Given the description of an element on the screen output the (x, y) to click on. 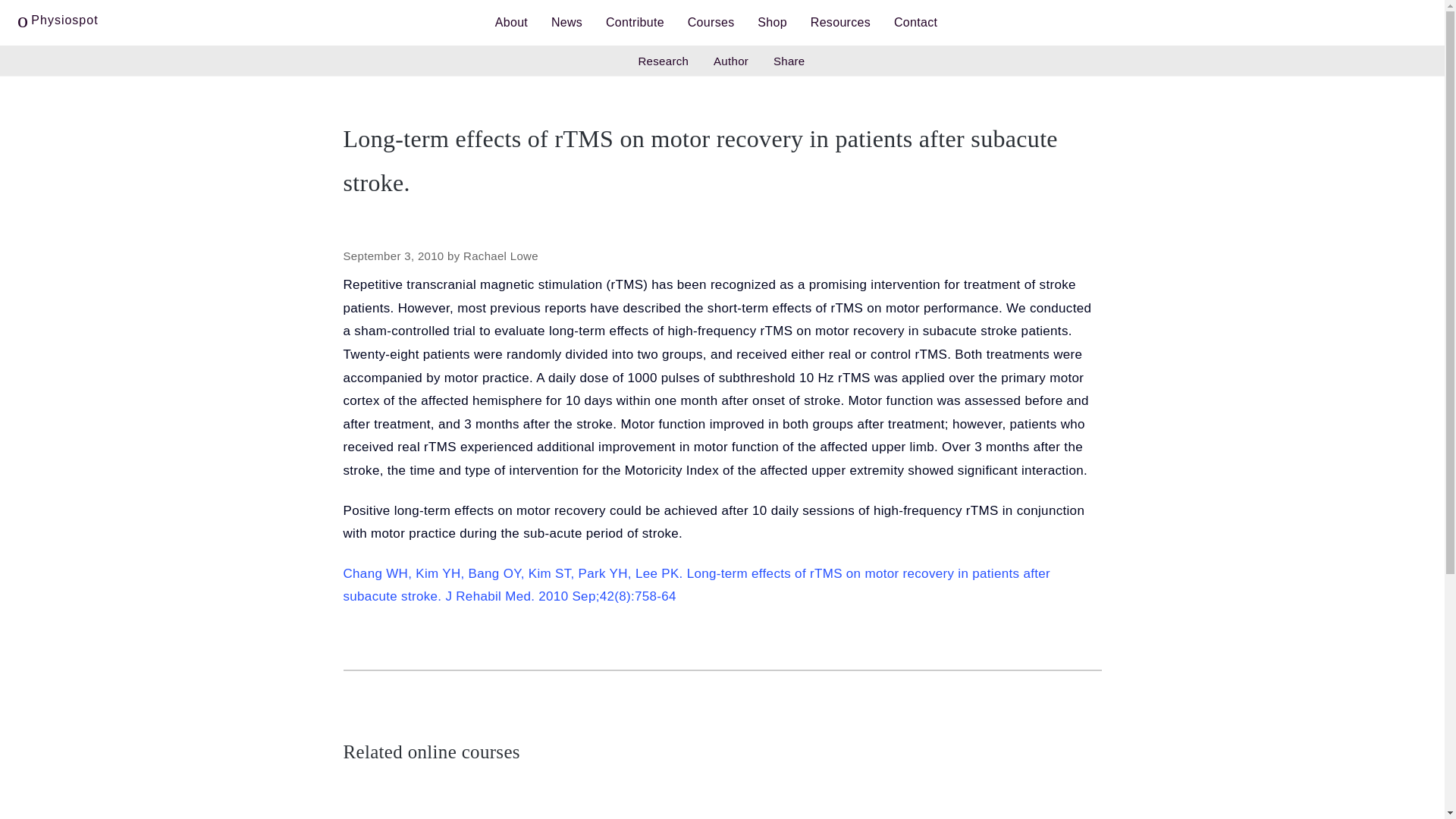
Research (662, 60)
Author (730, 60)
Courses (711, 22)
Shop (772, 22)
About (510, 22)
Share (788, 60)
Contribute (634, 22)
Physiospot (57, 17)
Resources (840, 22)
Contact (915, 22)
oPhysiospot (57, 17)
News (566, 22)
